Given the description of an element on the screen output the (x, y) to click on. 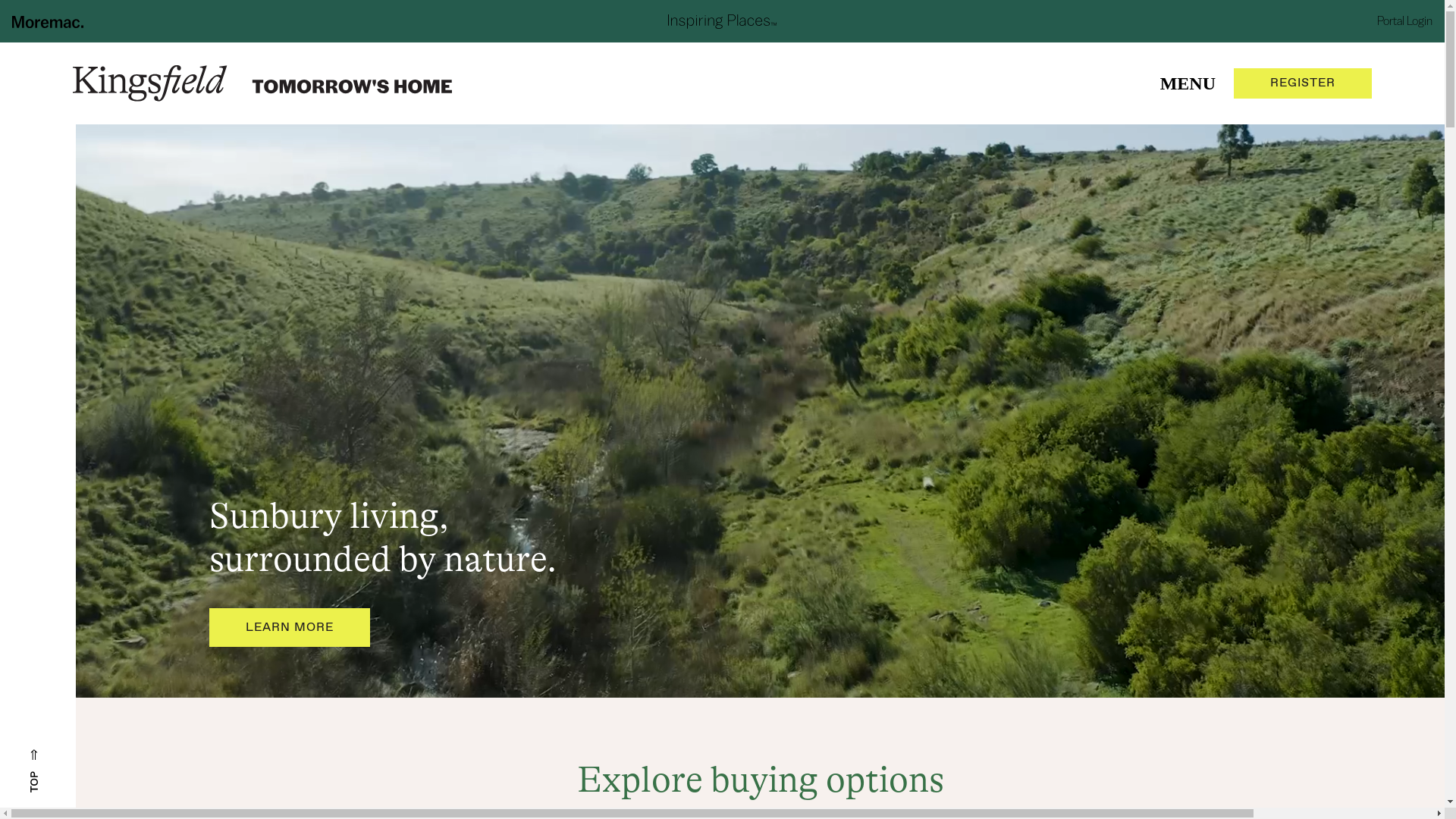
REGISTER Element type: text (1302, 83)
LEARN MORE Element type: text (289, 627)
MENU Element type: text (1187, 83)
Portal Login Element type: text (1404, 21)
